Given the description of an element on the screen output the (x, y) to click on. 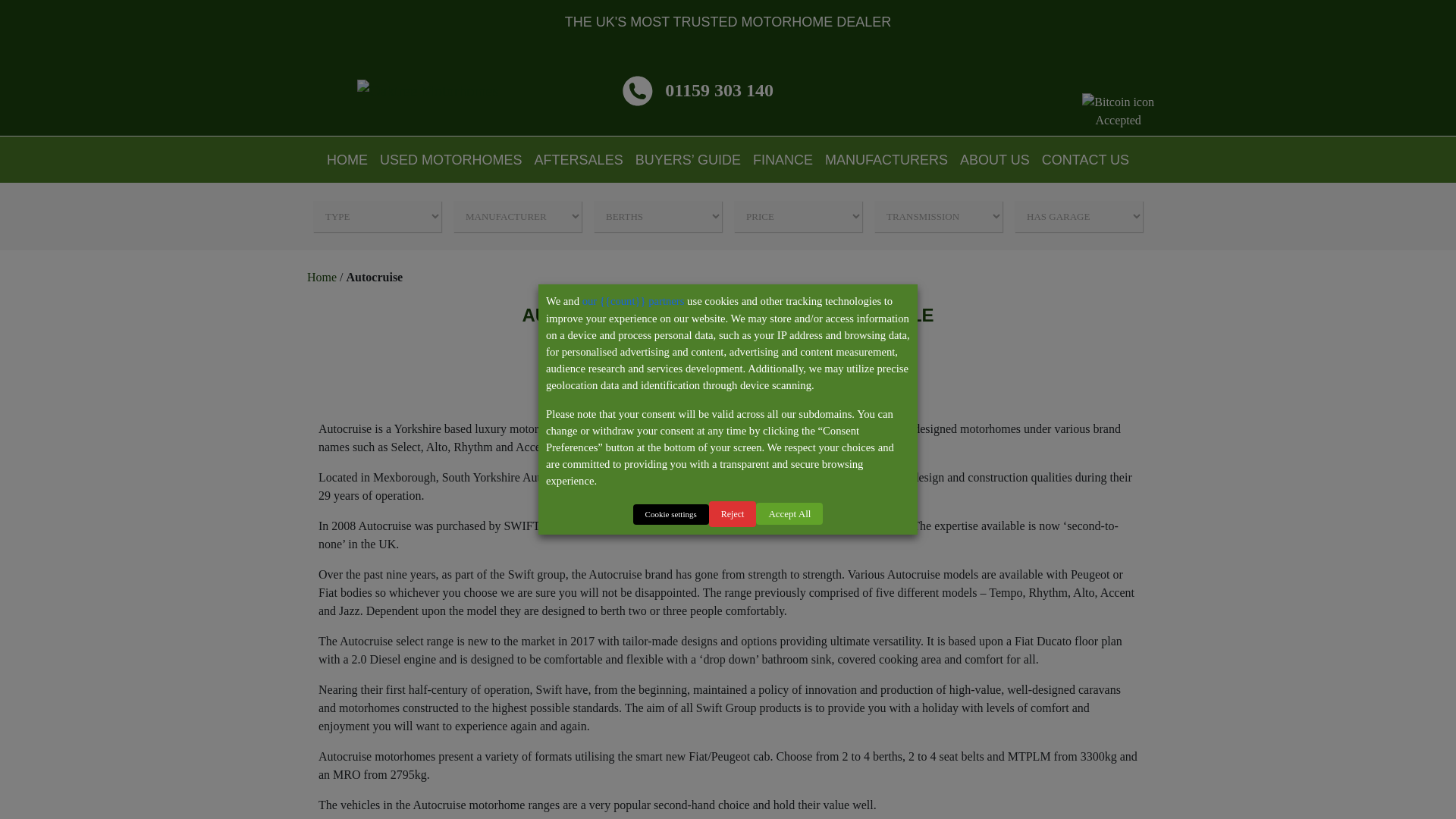
USED MOTORHOMES (451, 159)
Home (347, 159)
HOME (347, 159)
AFTERSALES (578, 159)
Used Motorhomes (451, 159)
Customer reviews powered by Trustpilot (949, 90)
MANUFACTURERS (885, 159)
01159 303 140 (698, 89)
FINANCE (782, 159)
